Given the description of an element on the screen output the (x, y) to click on. 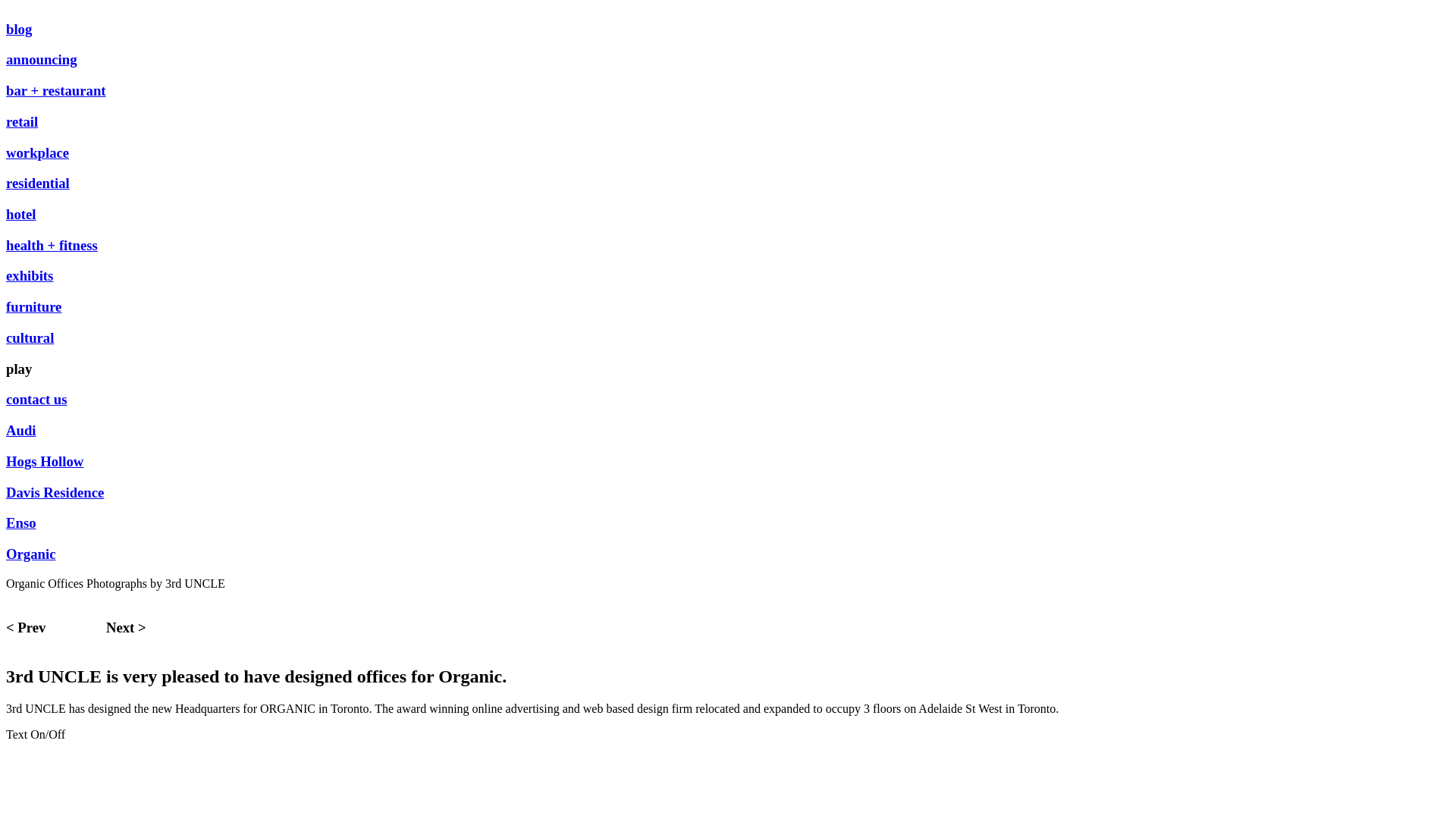
retail Element type: text (21, 121)
contact us Element type: text (36, 399)
exhibits Element type: text (29, 275)
bar + restaurant Element type: text (56, 90)
Hogs Hollow Element type: text (44, 461)
blog Element type: text (18, 29)
Enso Element type: text (21, 522)
workplace Element type: text (37, 152)
residential Element type: text (37, 183)
hotel Element type: text (20, 214)
health + fitness Element type: text (51, 245)
Organic Element type: text (30, 553)
Audi Element type: text (21, 430)
furniture Element type: text (33, 306)
announcing Element type: text (41, 59)
cultural Element type: text (29, 337)
Davis Residence Element type: text (54, 491)
